Given the description of an element on the screen output the (x, y) to click on. 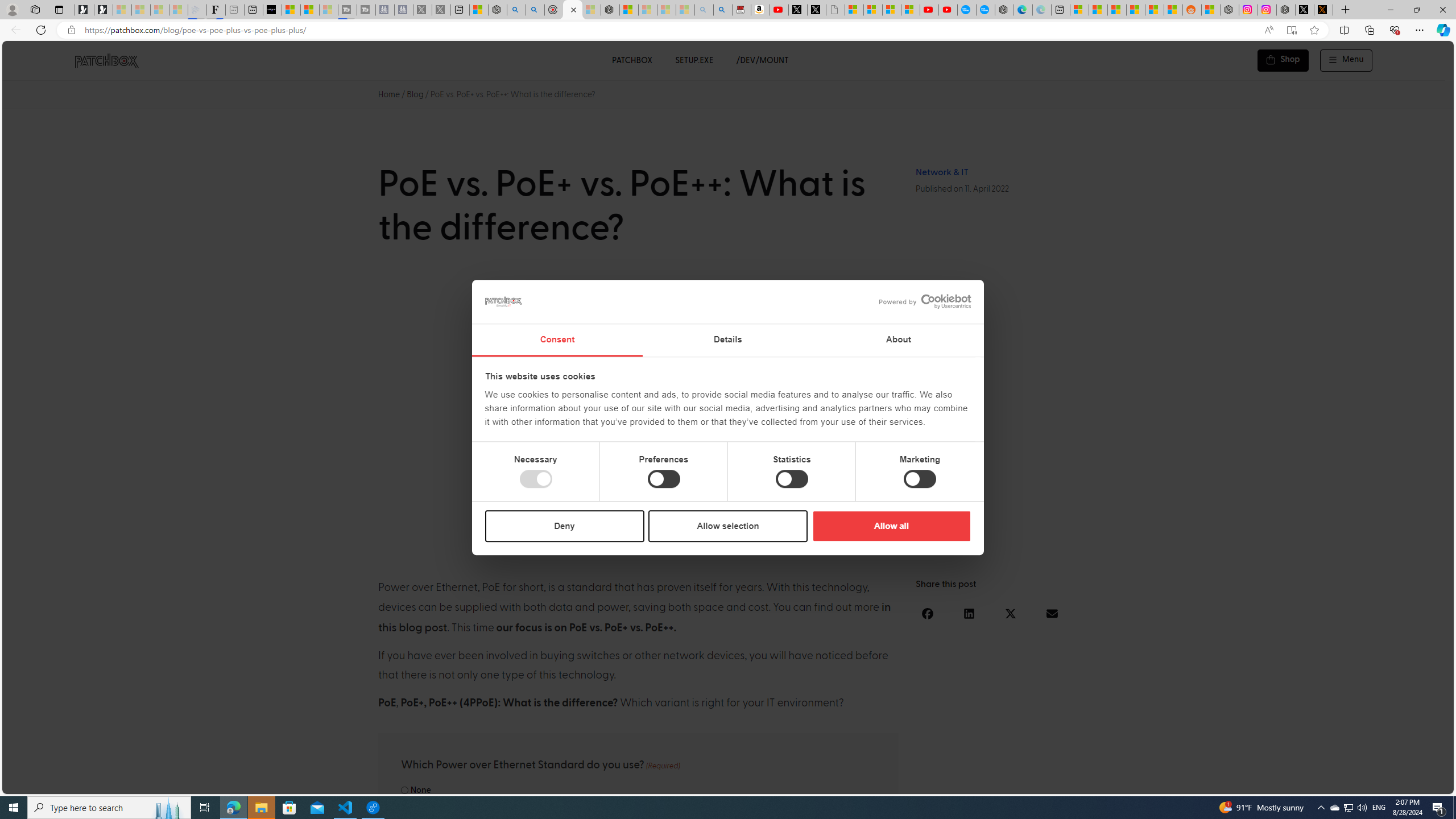
The most popular Google 'how to' searches (985, 9)
poe ++ standard - Search (534, 9)
Nordace (@NordaceOfficial) / X (1304, 9)
Allow selection (727, 525)
PATCHBOX Simplify IT (114, 60)
Network & IT (941, 171)
amazon - Search - Sleeping (703, 9)
Language switcher : Swedish (1356, 782)
Share on x-twitter (1010, 613)
Language switcher : Portuguese (1401, 782)
Shanghai, China weather forecast | Microsoft Weather (1098, 9)
